Given the description of an element on the screen output the (x, y) to click on. 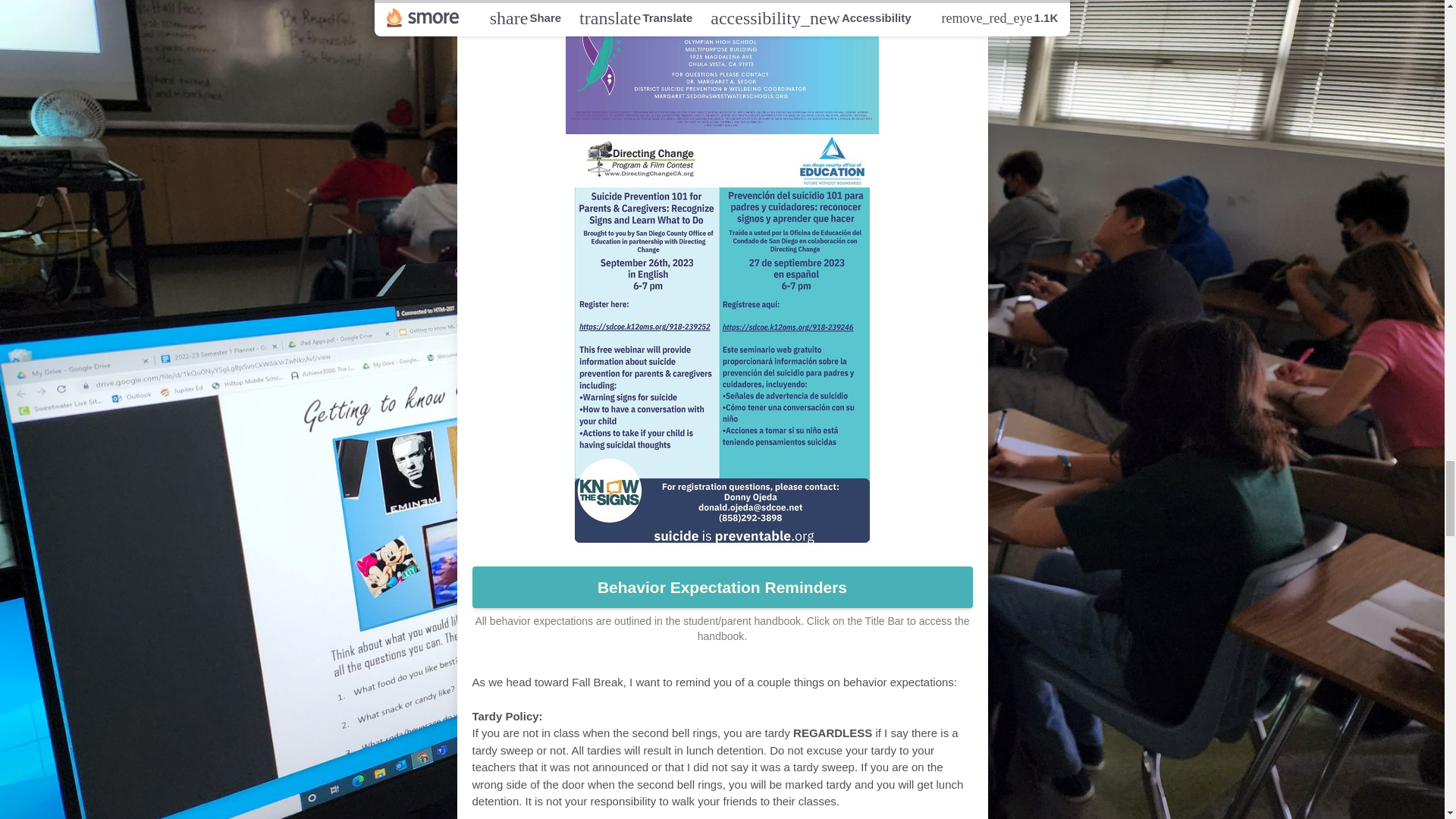
Behavior Expectation Reminders (721, 587)
